Given the description of an element on the screen output the (x, y) to click on. 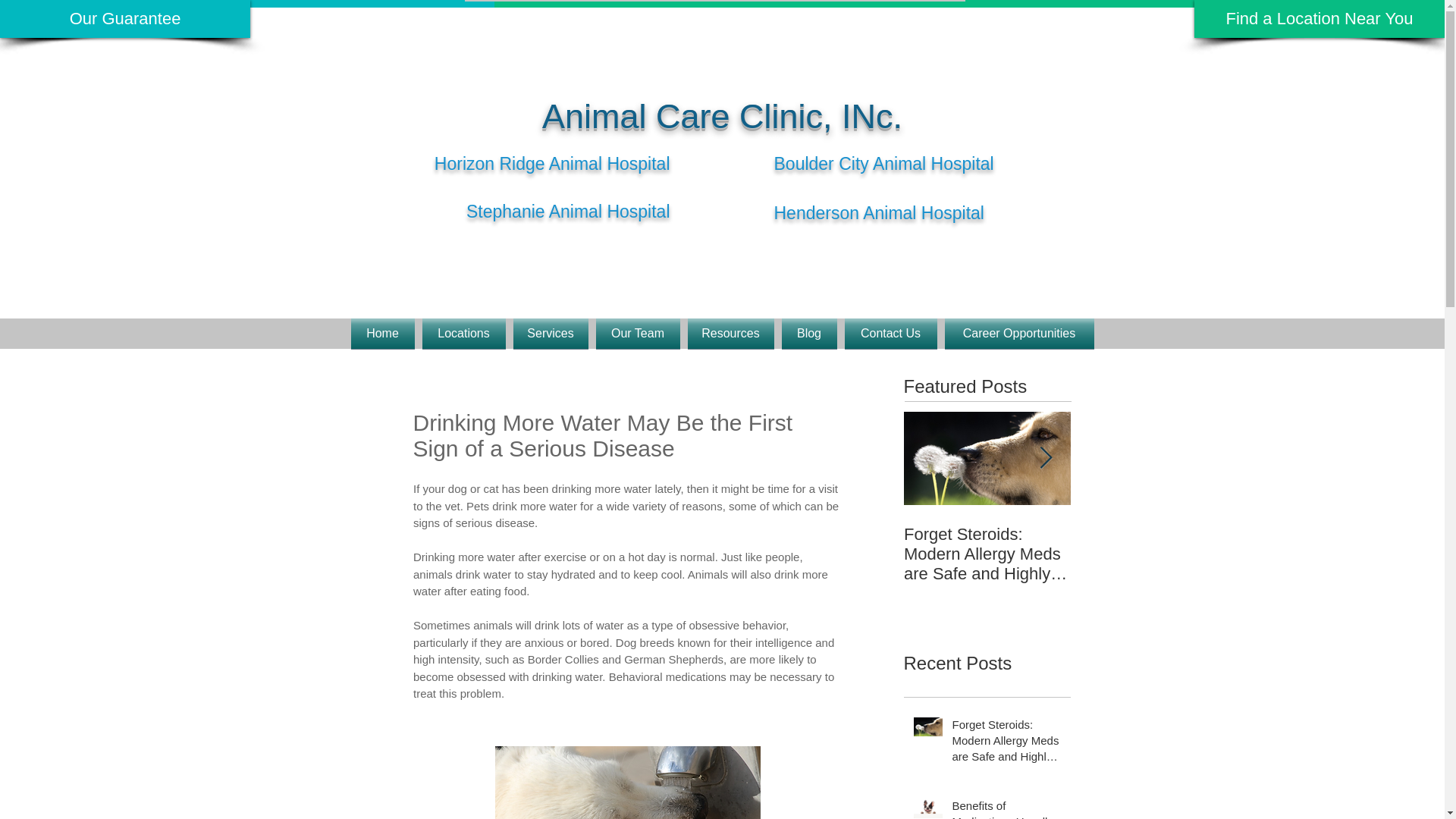
Horizon Ridge Animal Hospital (551, 163)
Henderson Animal Hospital (878, 212)
Services (550, 333)
Home (383, 333)
Boulder City Animal Hospital (882, 163)
Contact Us (890, 333)
Our Team (636, 333)
Stephanie Animal Hospital (567, 211)
Career Opportunities (1016, 333)
Resources (730, 333)
Animal Care Clinic, INc. (721, 116)
Benefits of Medications Usually Outweigh Risks (1153, 553)
Blog (809, 333)
